Given the description of an element on the screen output the (x, y) to click on. 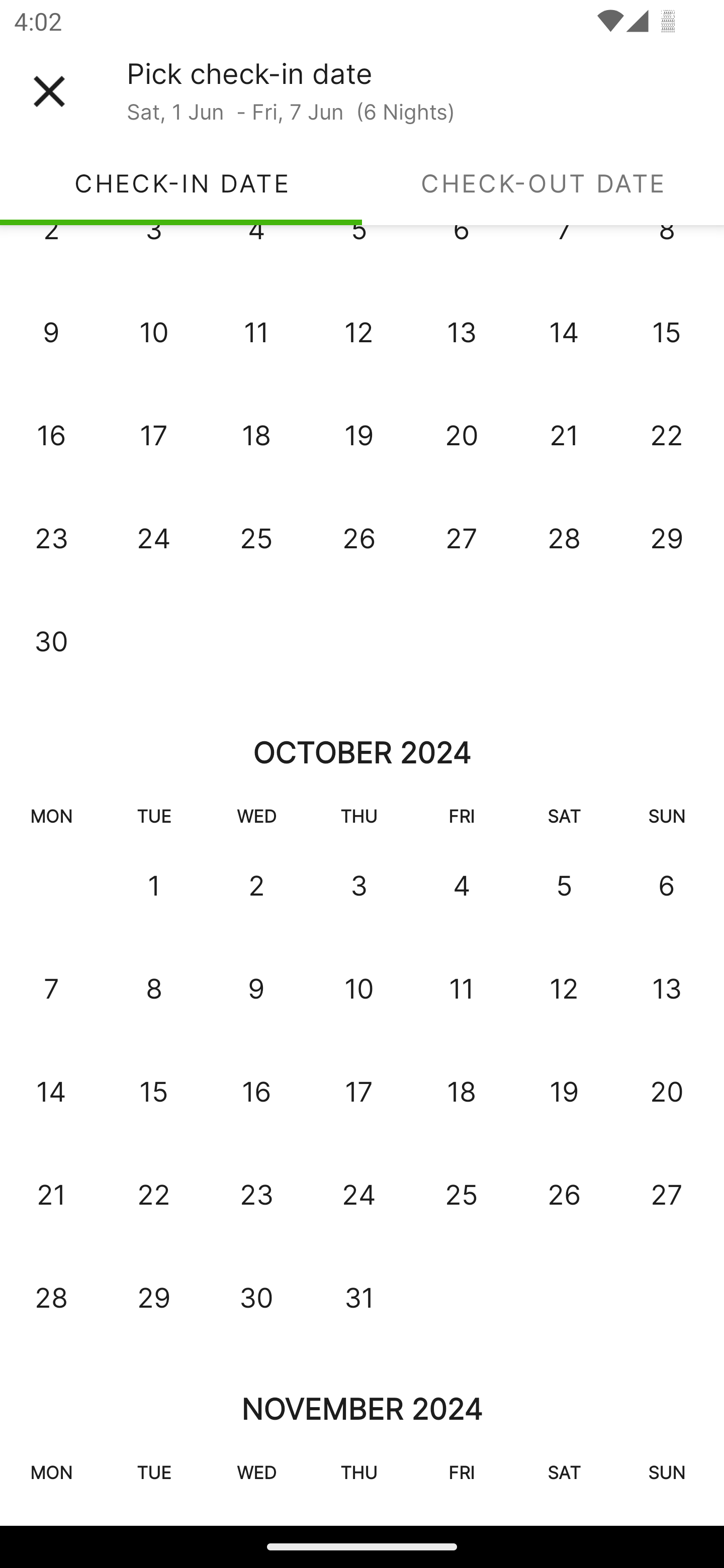
Check-out Date CHECK-OUT DATE (543, 183)
